Given the description of an element on the screen output the (x, y) to click on. 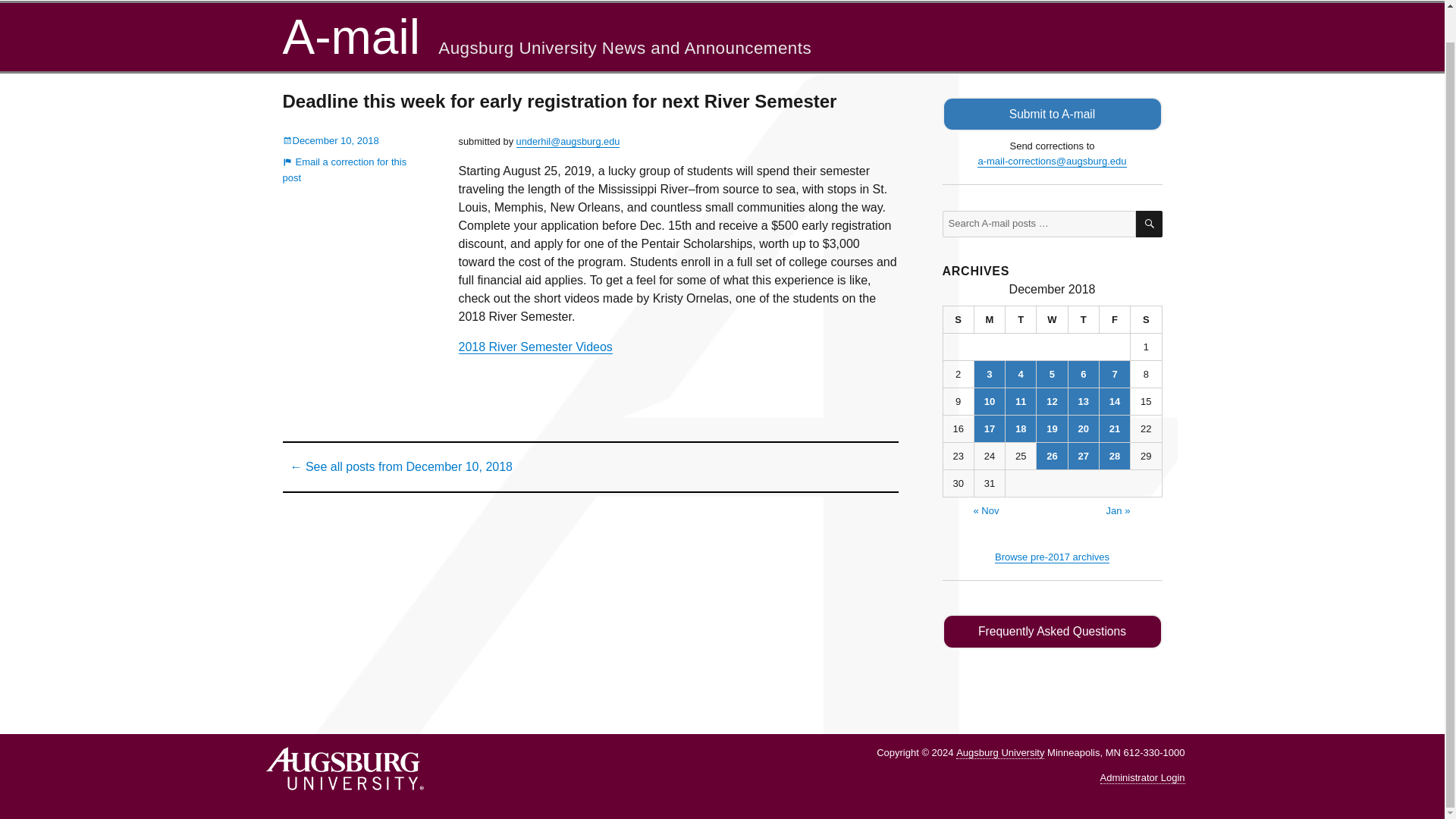
SEARCH (1148, 223)
12 (1051, 401)
A-mail (350, 36)
10 (989, 401)
18 (1020, 428)
5 (1051, 374)
28 (1114, 456)
17 (989, 428)
Browse pre-2017 archives (1051, 556)
Frequently Asked Questions (1051, 631)
Submit to A-mail (1051, 114)
4 (1020, 374)
27 (1083, 456)
Monday (990, 319)
